Given the description of an element on the screen output the (x, y) to click on. 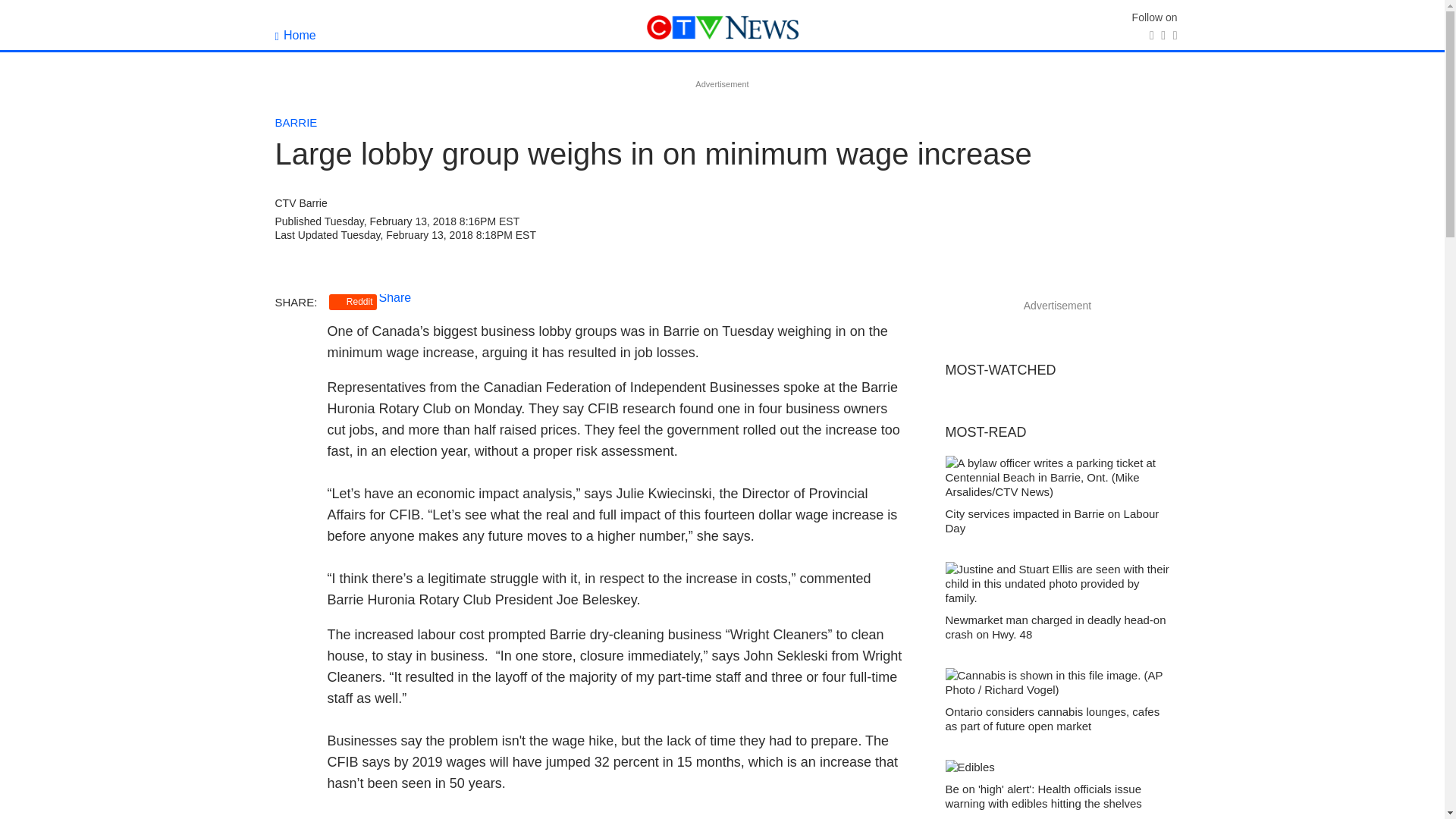
BARRIE (296, 122)
Share (395, 297)
Reddit (353, 302)
Home (295, 34)
